Given the description of an element on the screen output the (x, y) to click on. 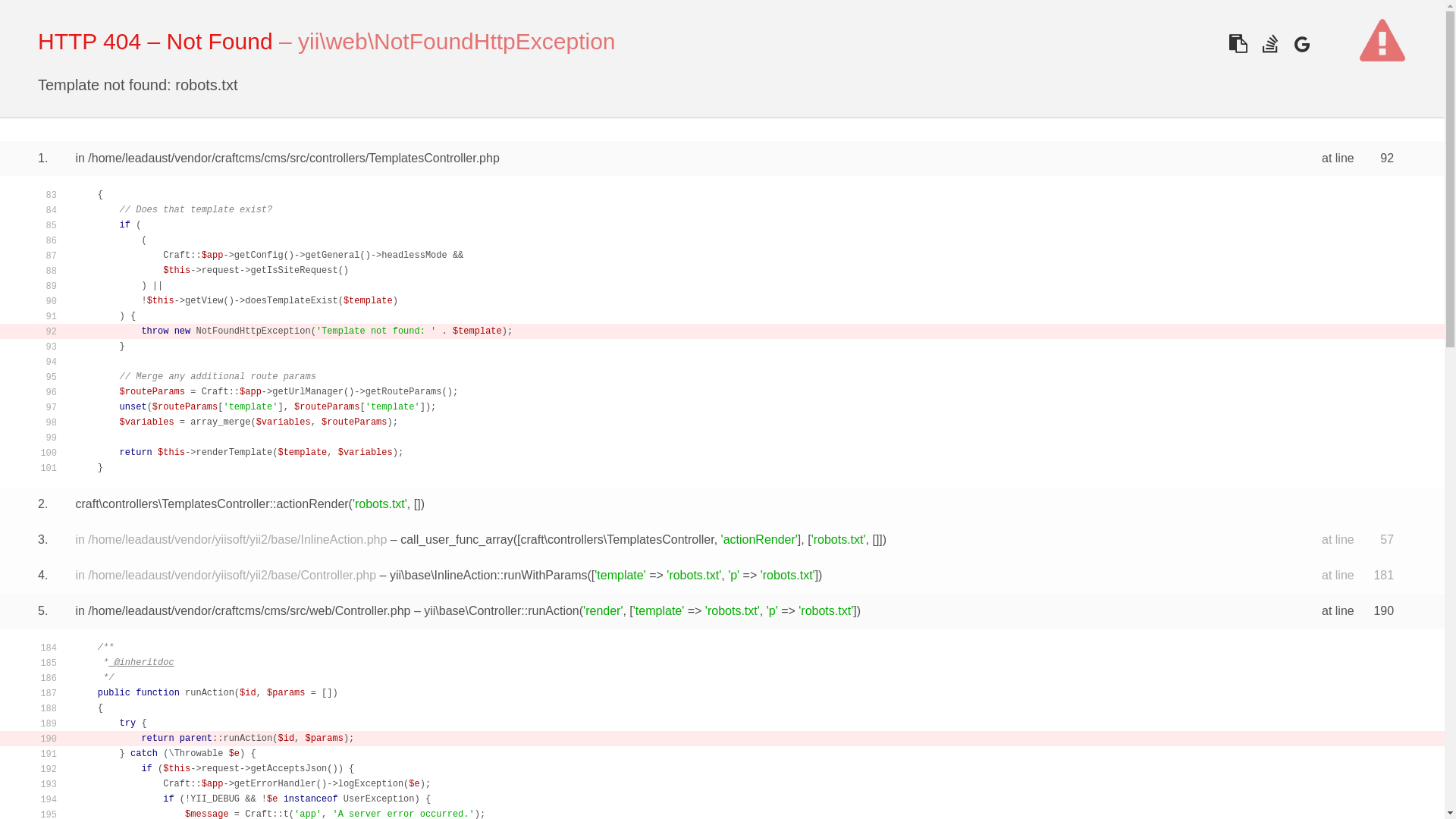
yii\base\InlineAction::runWithParams Element type: text (488, 574)
yii\base\Controller::runAction Element type: text (501, 610)
Search error on Google Element type: hover (1301, 43)
Search error on Stackoverflow Element type: hover (1269, 43)
Copy the stacktrace for use in a bug report or pastebin Element type: hover (1237, 43)
yii\web\NotFoundHttpException Element type: text (456, 40)
